Given the description of an element on the screen output the (x, y) to click on. 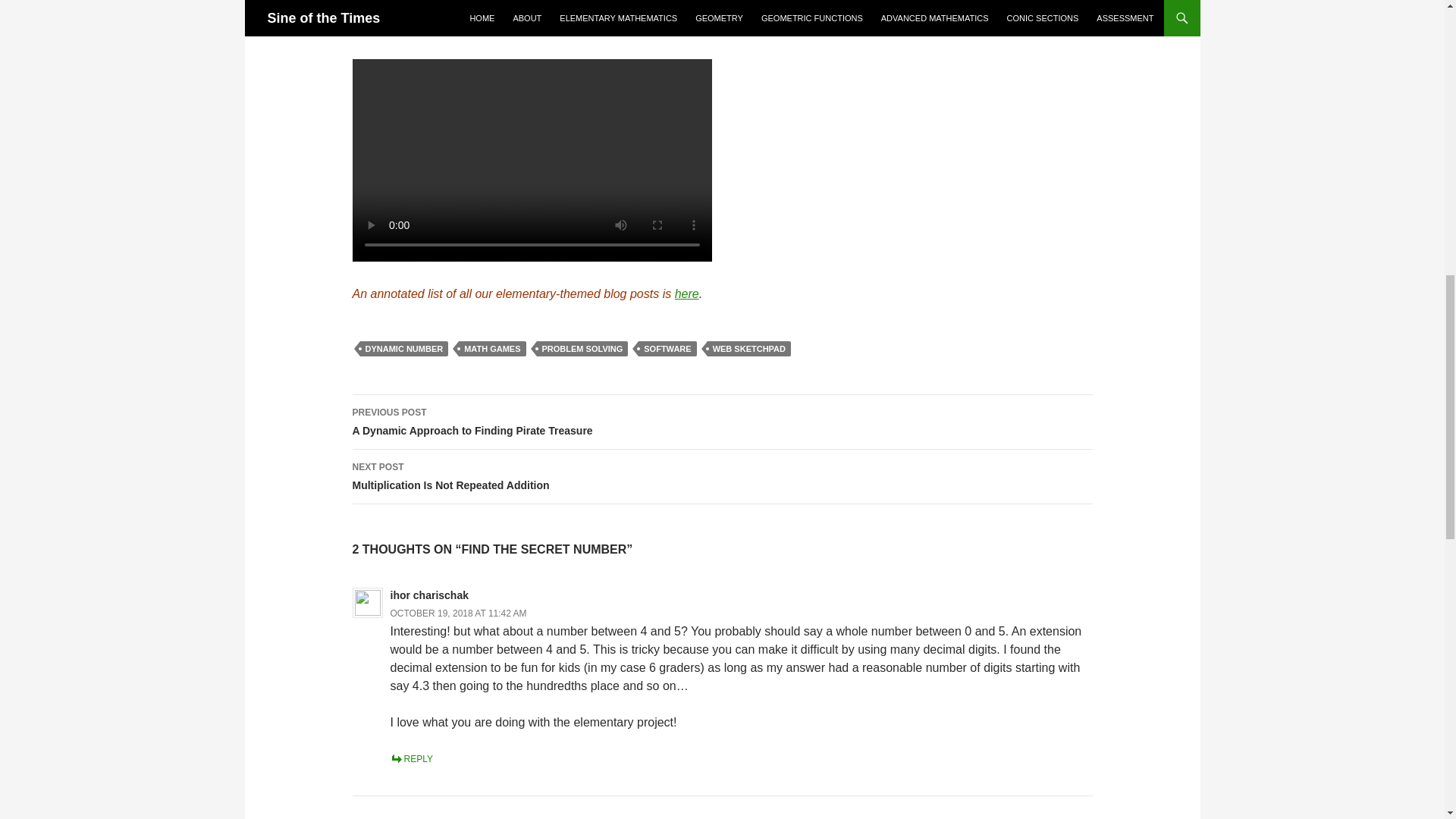
REPLY (722, 421)
SOFTWARE (411, 758)
PROBLEM SOLVING (667, 348)
here (582, 348)
DYNAMIC NUMBER (686, 293)
ihor charischak (722, 476)
MATH GAMES (403, 348)
WEB SKETCHPAD (429, 594)
